Given the description of an element on the screen output the (x, y) to click on. 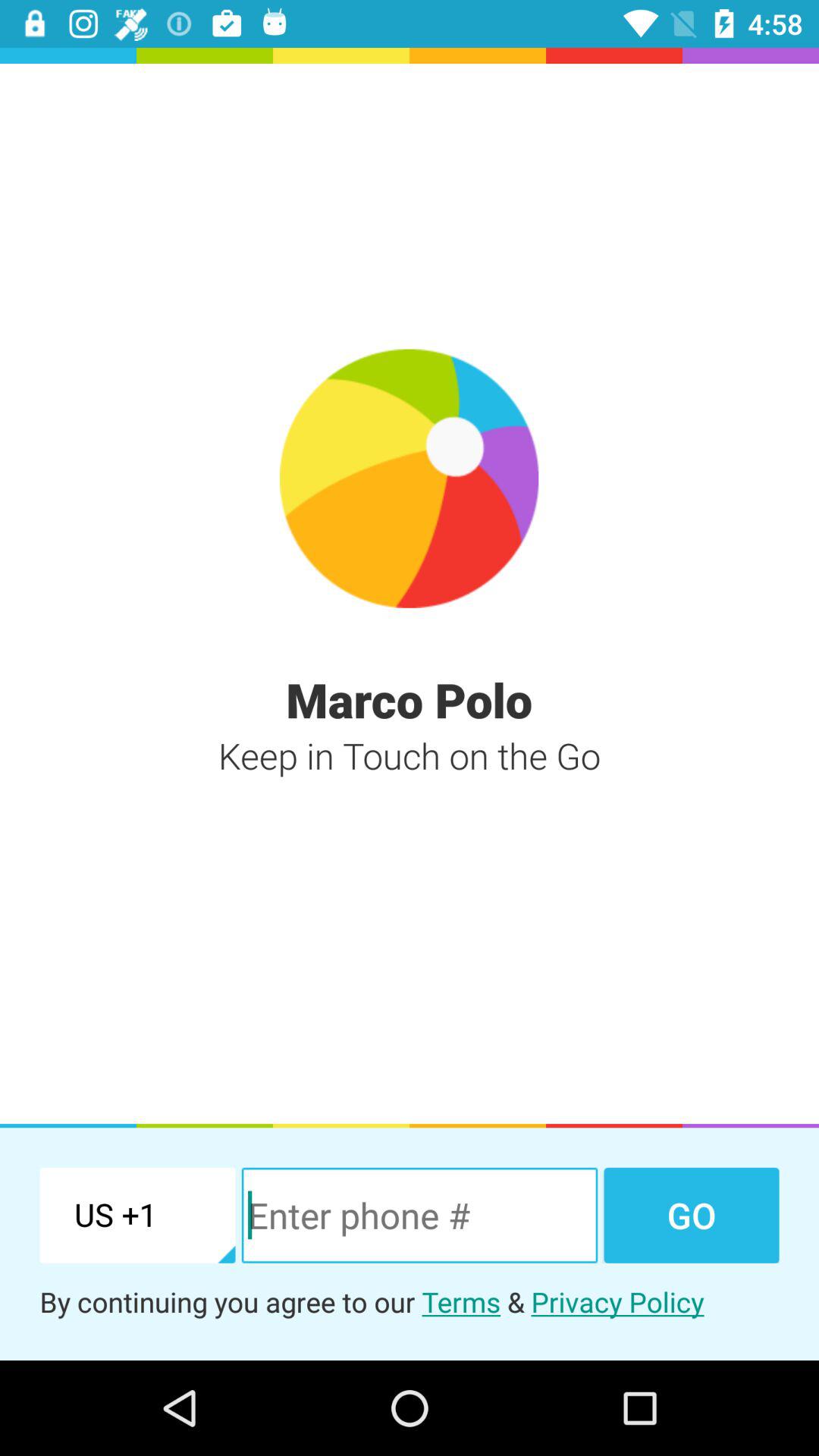
launch item next to the go item (419, 1215)
